Given the description of an element on the screen output the (x, y) to click on. 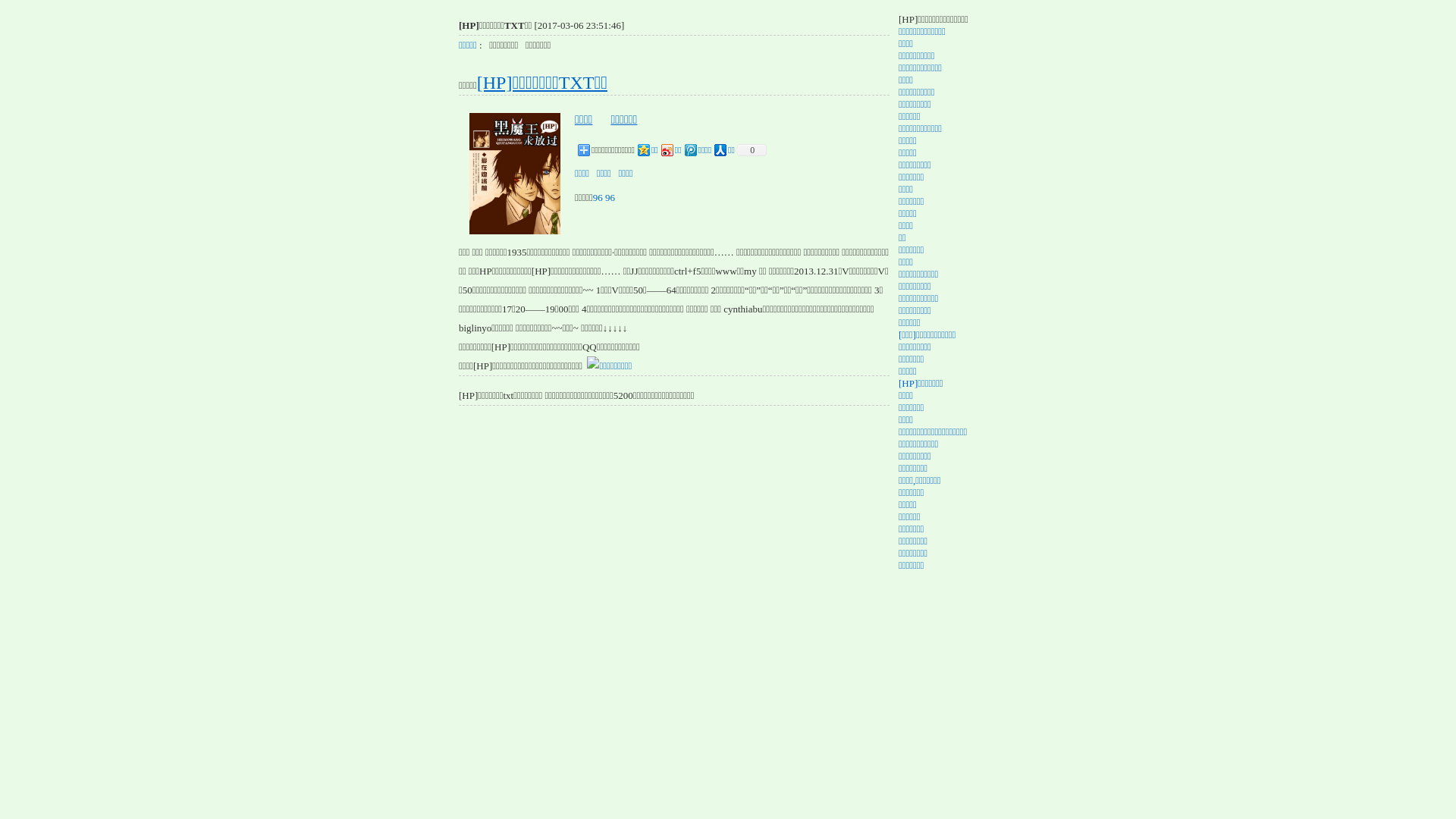
0 Element type: text (750, 150)
96 96 Element type: text (604, 197)
